Given the description of an element on the screen output the (x, y) to click on. 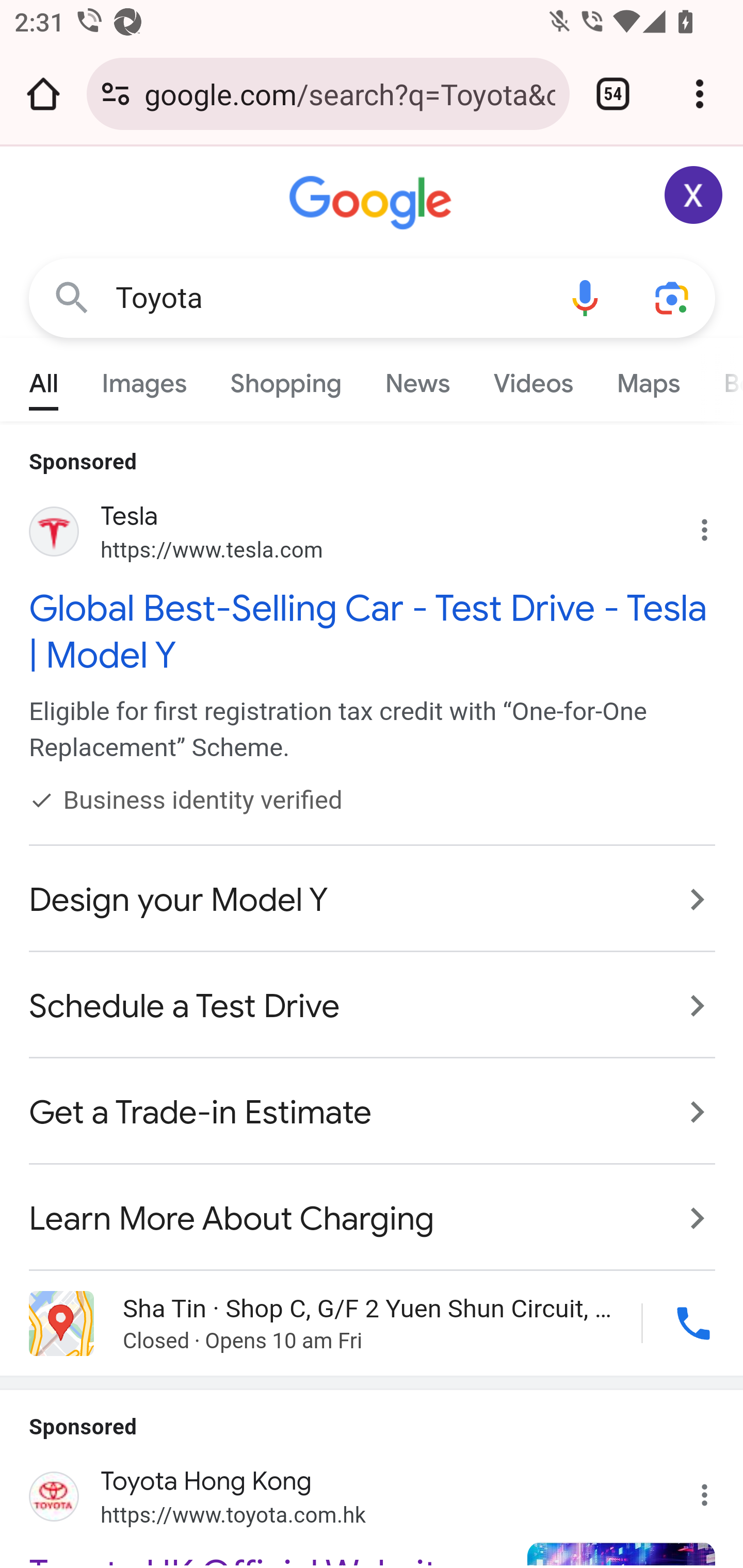
Open the home page (43, 93)
Connection is secure (115, 93)
Switch or close tabs (612, 93)
Customize and control Google Chrome (699, 93)
Google (372, 203)
Google Account: Xiaoran (zxrappiumtest@gmail.com) (694, 195)
Google Search (71, 296)
Search using your camera or photos (672, 296)
Toyota (328, 297)
Images (144, 378)
Shopping (285, 378)
News (417, 378)
Videos (533, 378)
Maps (647, 378)
Why this ad? (714, 525)
Design your Model Y (372, 899)
Schedule a Test Drive (372, 1006)
Get a Trade-in Estimate (372, 1112)
Learn More About Charging (372, 1208)
Why this ad? (714, 1488)
